Given the description of an element on the screen output the (x, y) to click on. 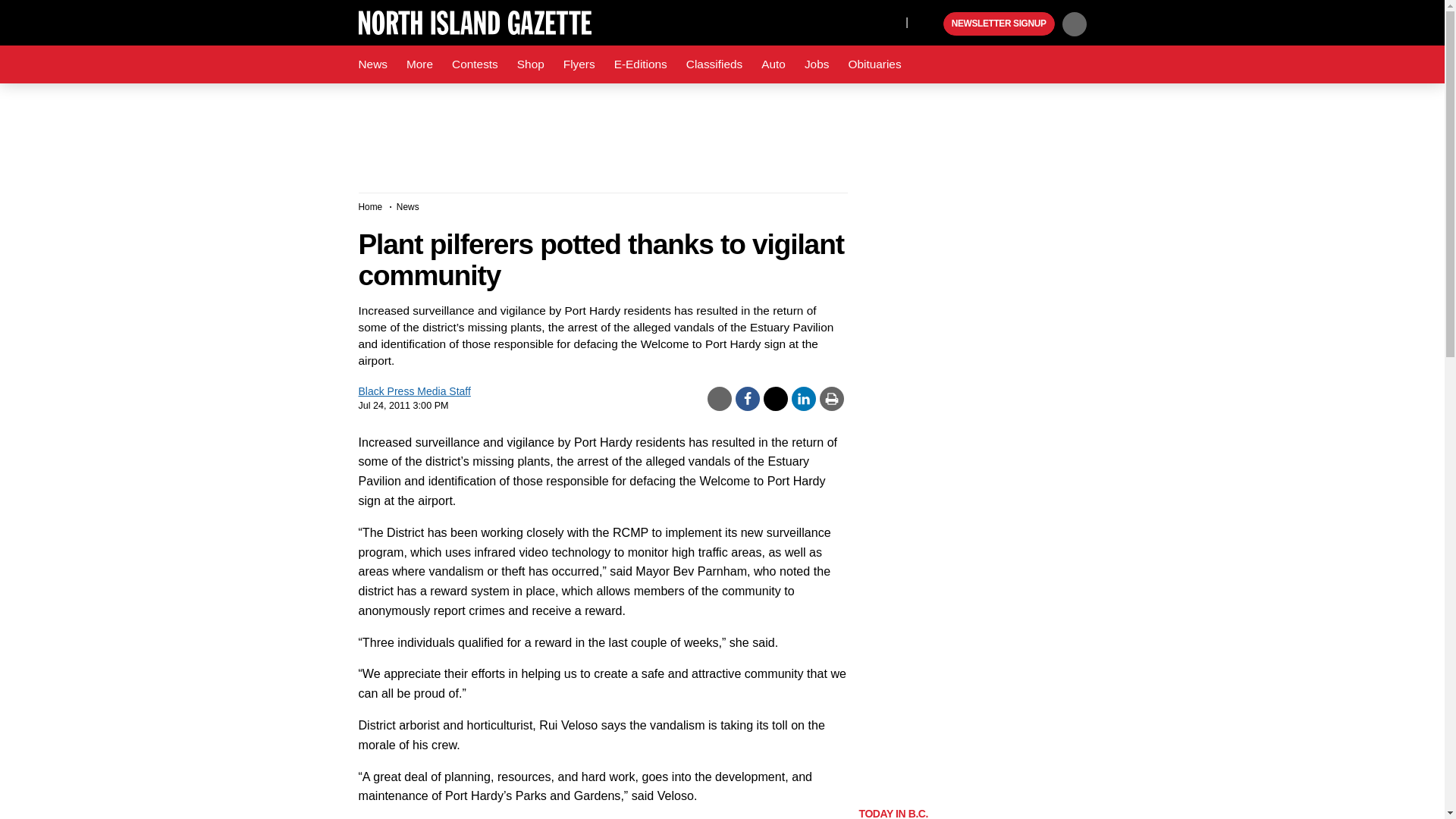
Black Press Media (929, 24)
NEWSLETTER SIGNUP (998, 24)
News (372, 64)
Play (929, 24)
X (889, 21)
